Given the description of an element on the screen output the (x, y) to click on. 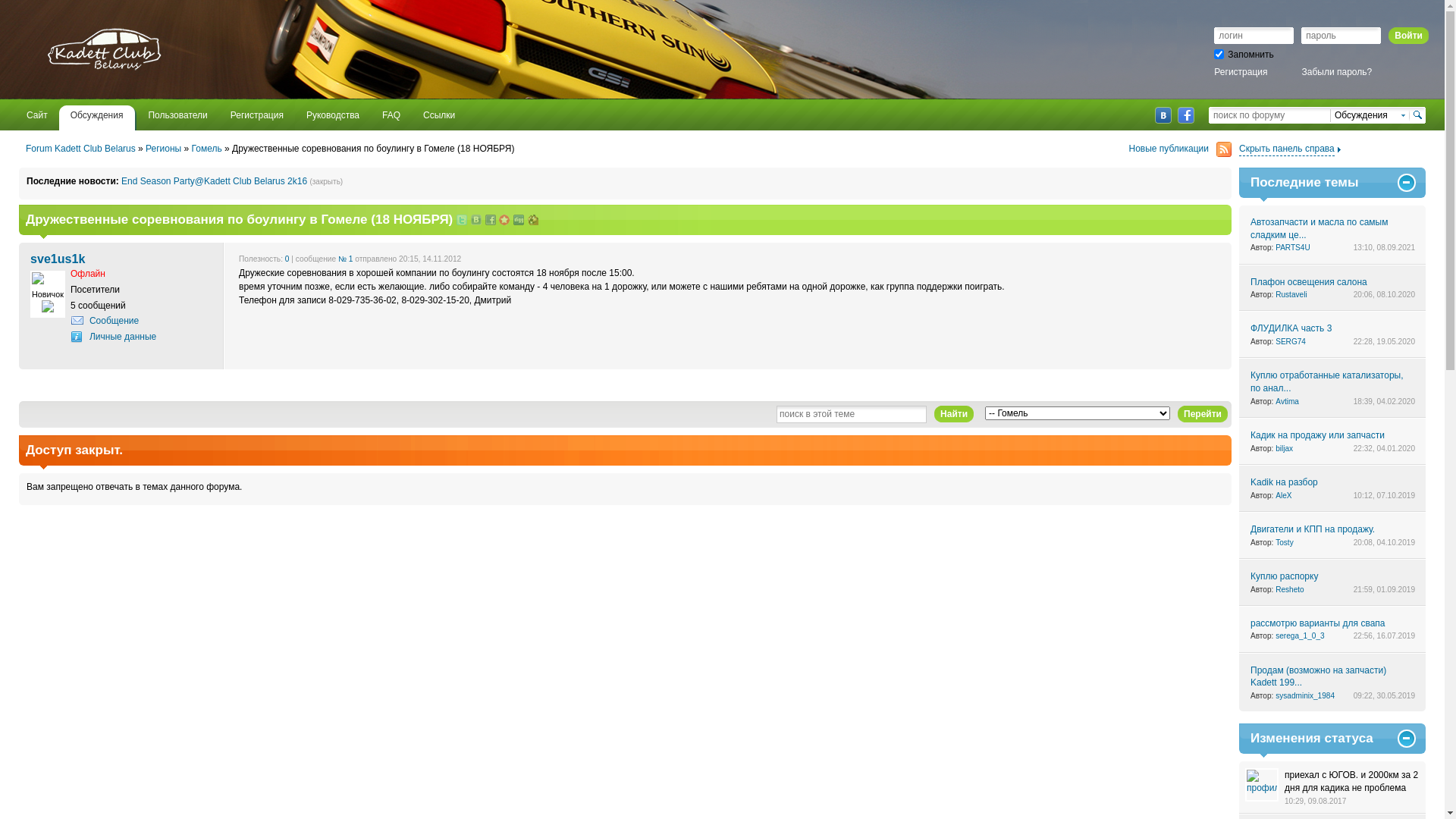
sysadminix_1984 Element type: text (1304, 695)
End Season Party@Kadett Club Belarus 2k16 Element type: text (214, 180)
Forum Kadett Club Belarus Element type: text (80, 148)
0 Element type: text (287, 258)
SERG74 Element type: text (1290, 341)
Tosty Element type: text (1284, 542)
AleX Element type: text (1283, 495)
PARTS4U Element type: text (1292, 247)
FAQ Element type: text (391, 117)
Facebook Element type: text (1185, 114)
Resheto Element type: text (1289, 589)
sve1us1k Element type: text (57, 258)
biljax Element type: text (1283, 448)
serega_1_0_3 Element type: text (1299, 635)
Rustaveli Element type: text (1290, 294)
